Given the description of an element on the screen output the (x, y) to click on. 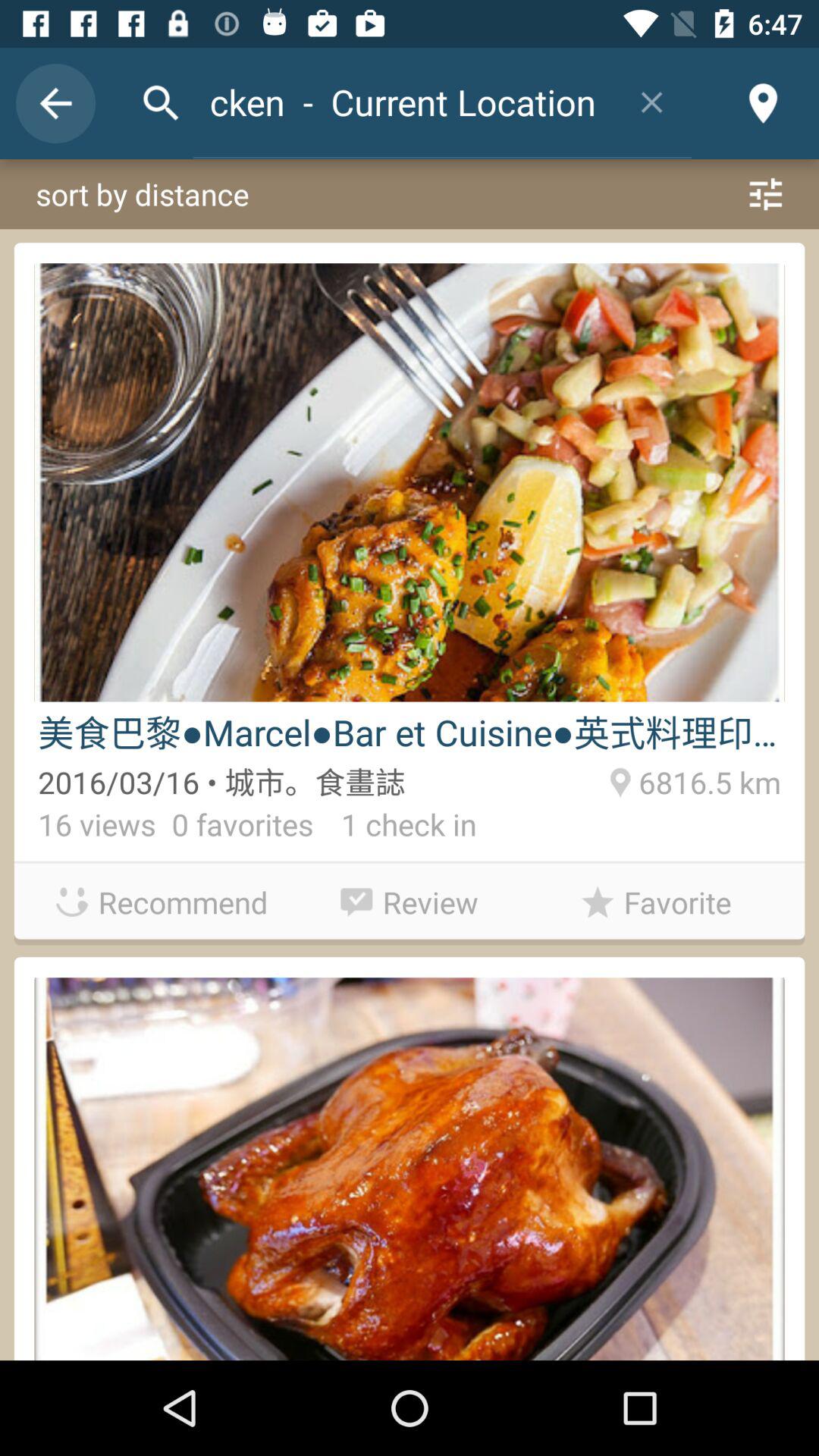
tap item above the sort by distance (55, 103)
